Given the description of an element on the screen output the (x, y) to click on. 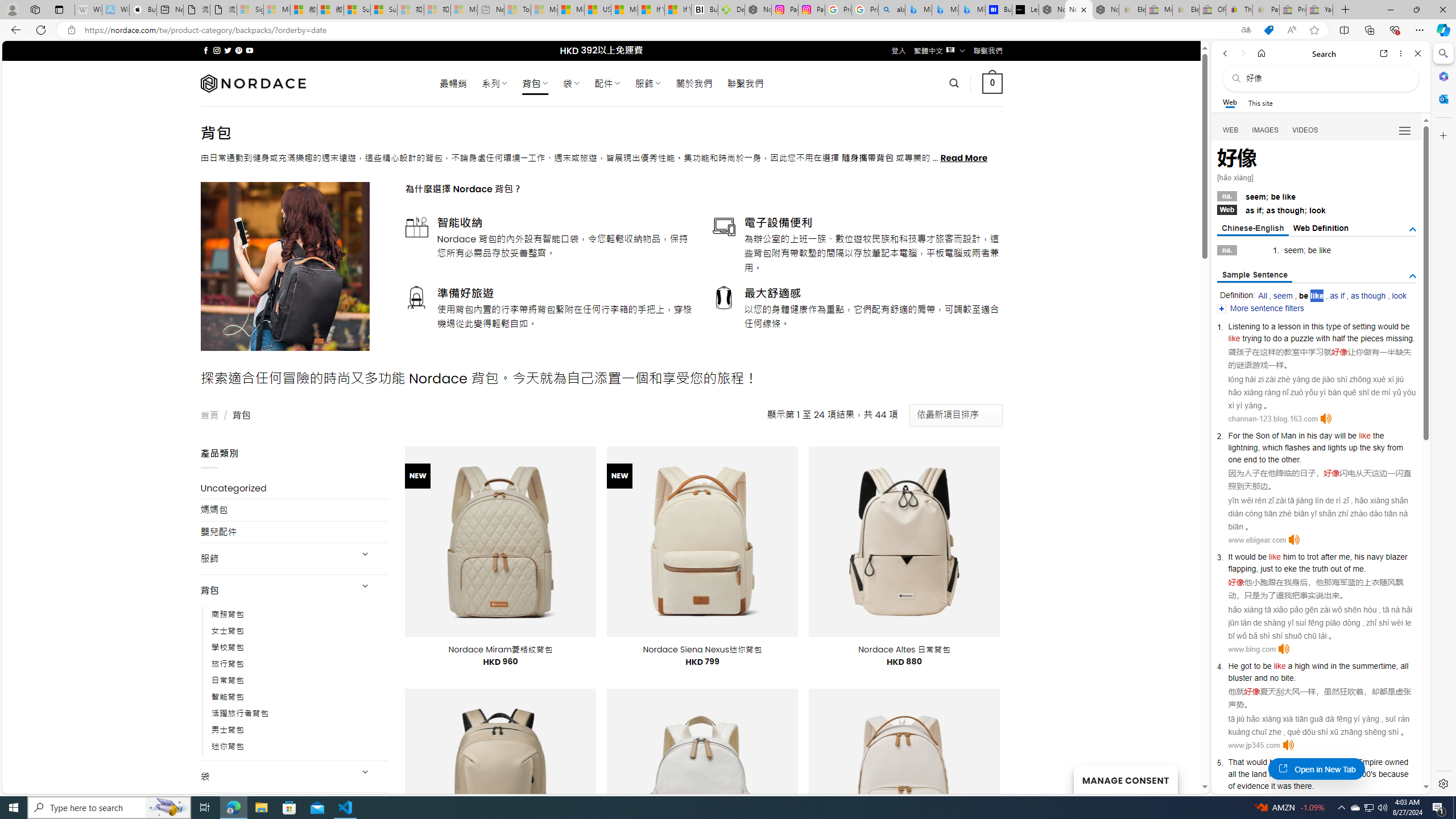
 0  (992, 83)
missing (1399, 338)
all (1231, 773)
Payments Terms of Use | eBay.com - Sleeping (1265, 9)
Press Room - eBay Inc. - Sleeping (1292, 9)
just (1267, 568)
